Given the description of an element on the screen output the (x, y) to click on. 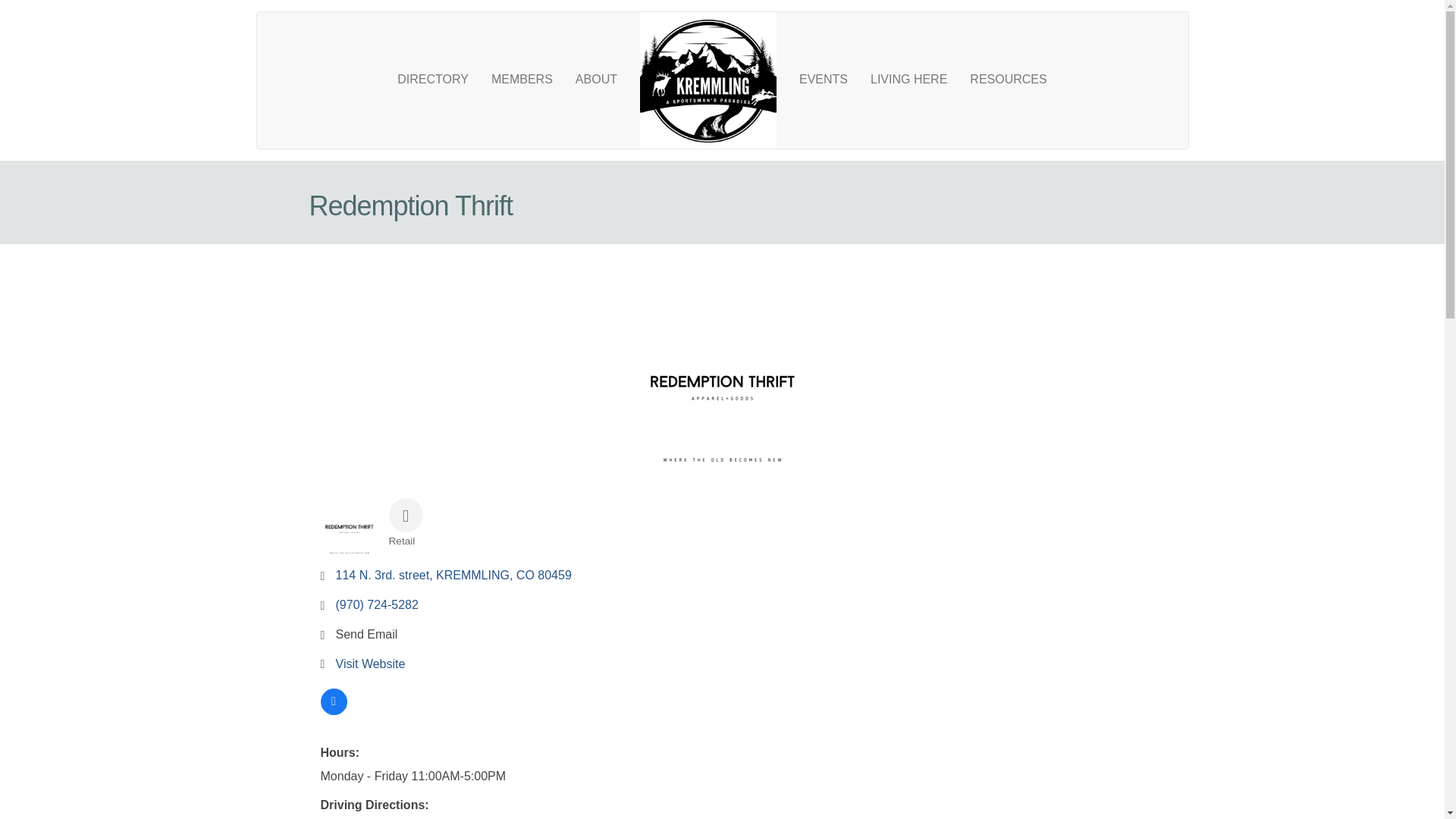
DIRECTORY (432, 79)
MEMBERS (522, 79)
View on Facebook (333, 710)
ABOUT (596, 79)
Redemption Thrift (348, 529)
Redemption Thrift (722, 389)
